Given the description of an element on the screen output the (x, y) to click on. 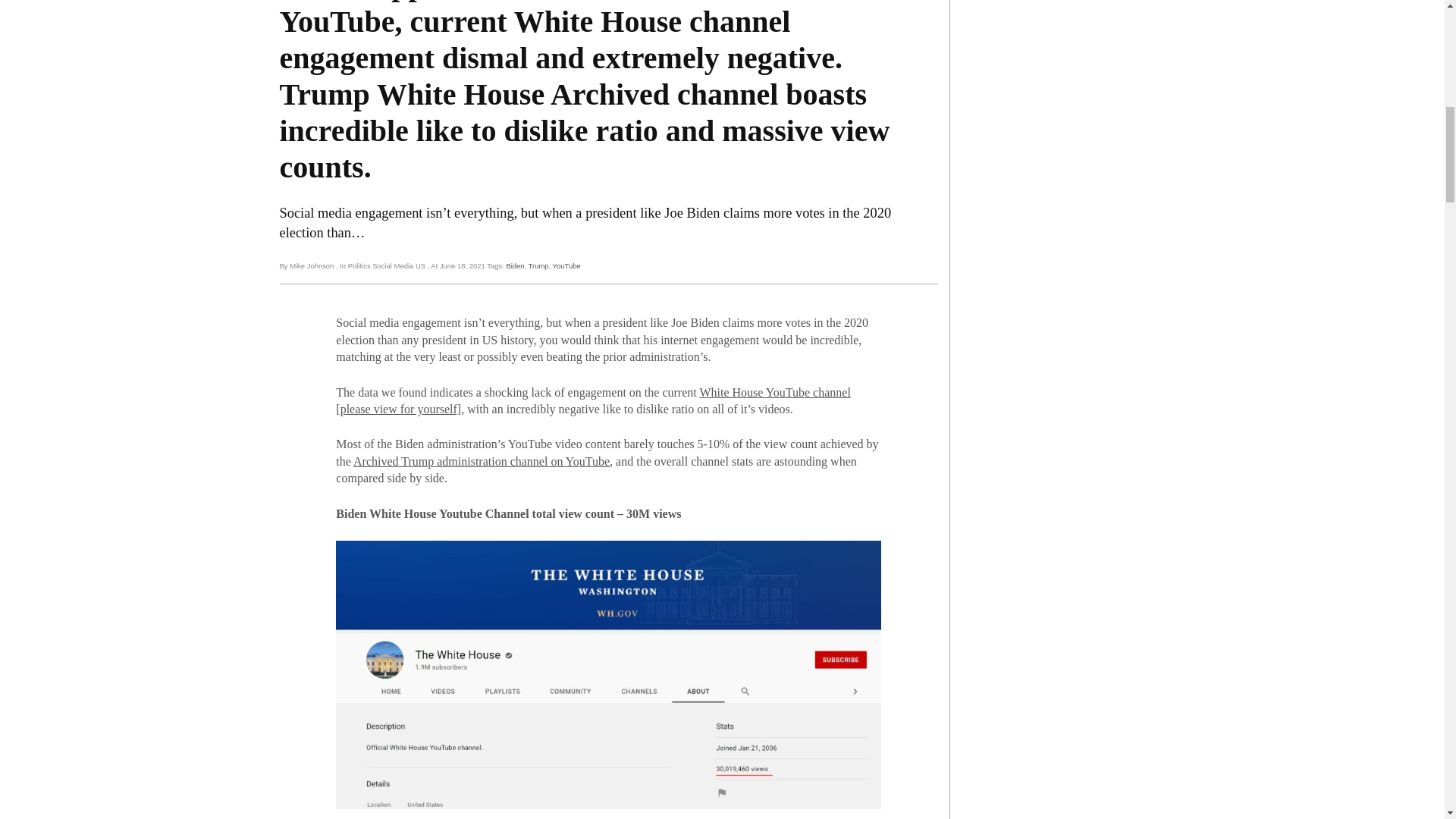
Trump (538, 265)
YouTube (566, 265)
Biden (514, 265)
Archived Trump administration channel on YouTube (481, 461)
